Given the description of an element on the screen output the (x, y) to click on. 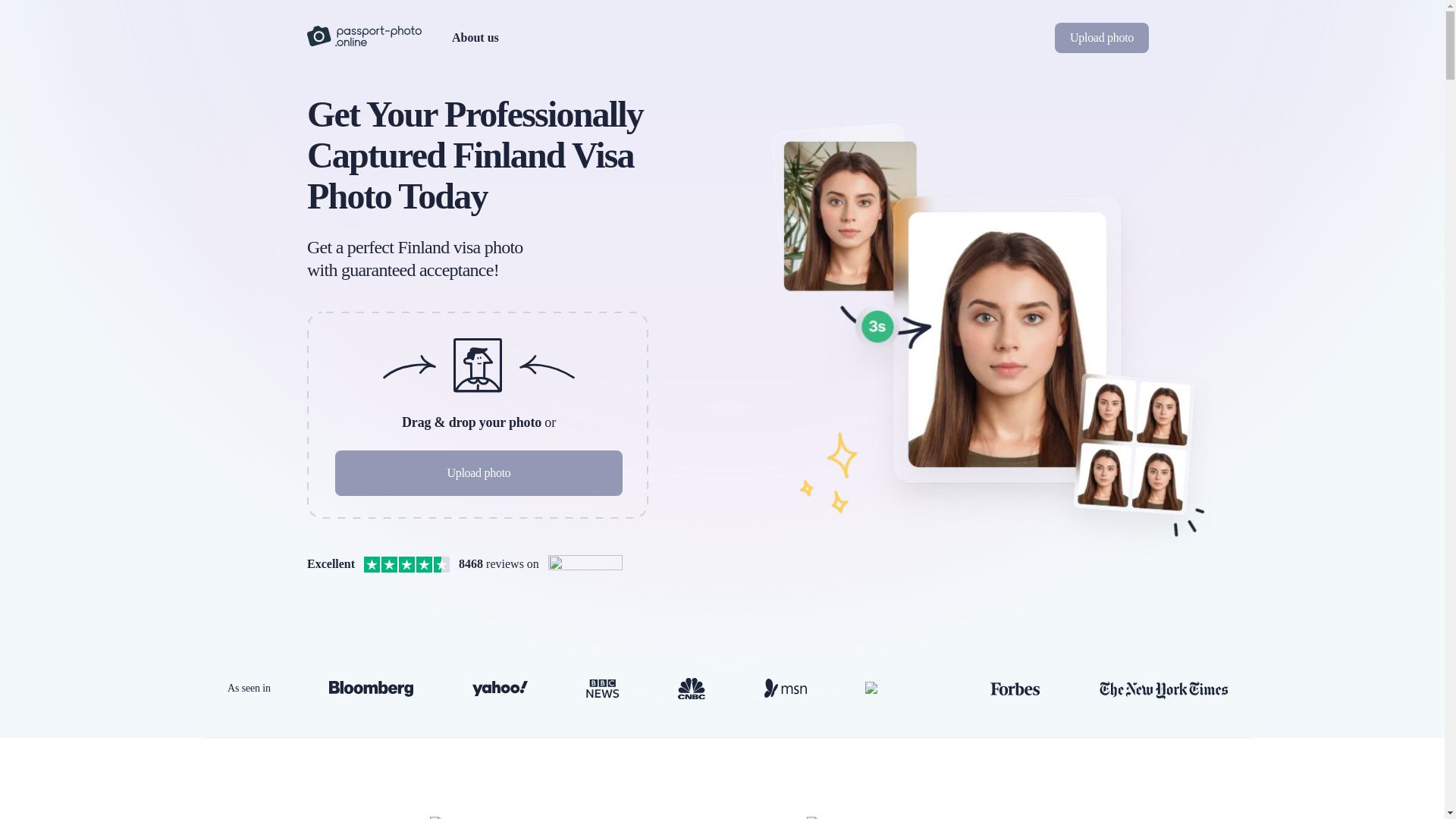
About us (475, 37)
Upload photo (478, 473)
Upload photo (1101, 37)
